Given the description of an element on the screen output the (x, y) to click on. 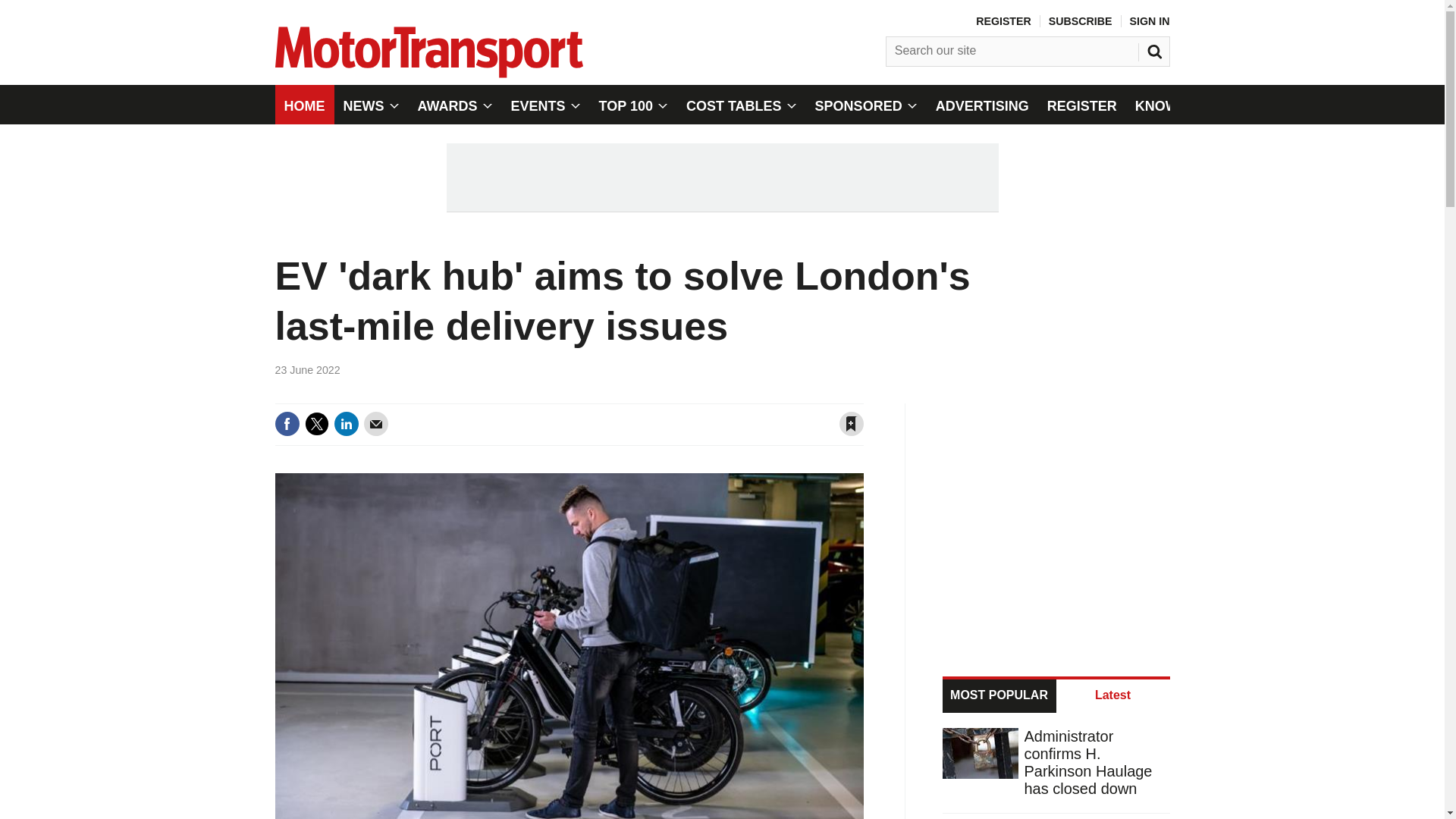
3rd party ad content (721, 177)
3rd party ad content (1056, 520)
Site name (428, 73)
SUBSCRIBE (1080, 21)
Email this article (376, 422)
REGISTER (1002, 21)
SIGN IN (1149, 21)
Share this on Facebook (286, 422)
Share this on Linked in (345, 422)
SEARCH (1156, 48)
